Given the description of an element on the screen output the (x, y) to click on. 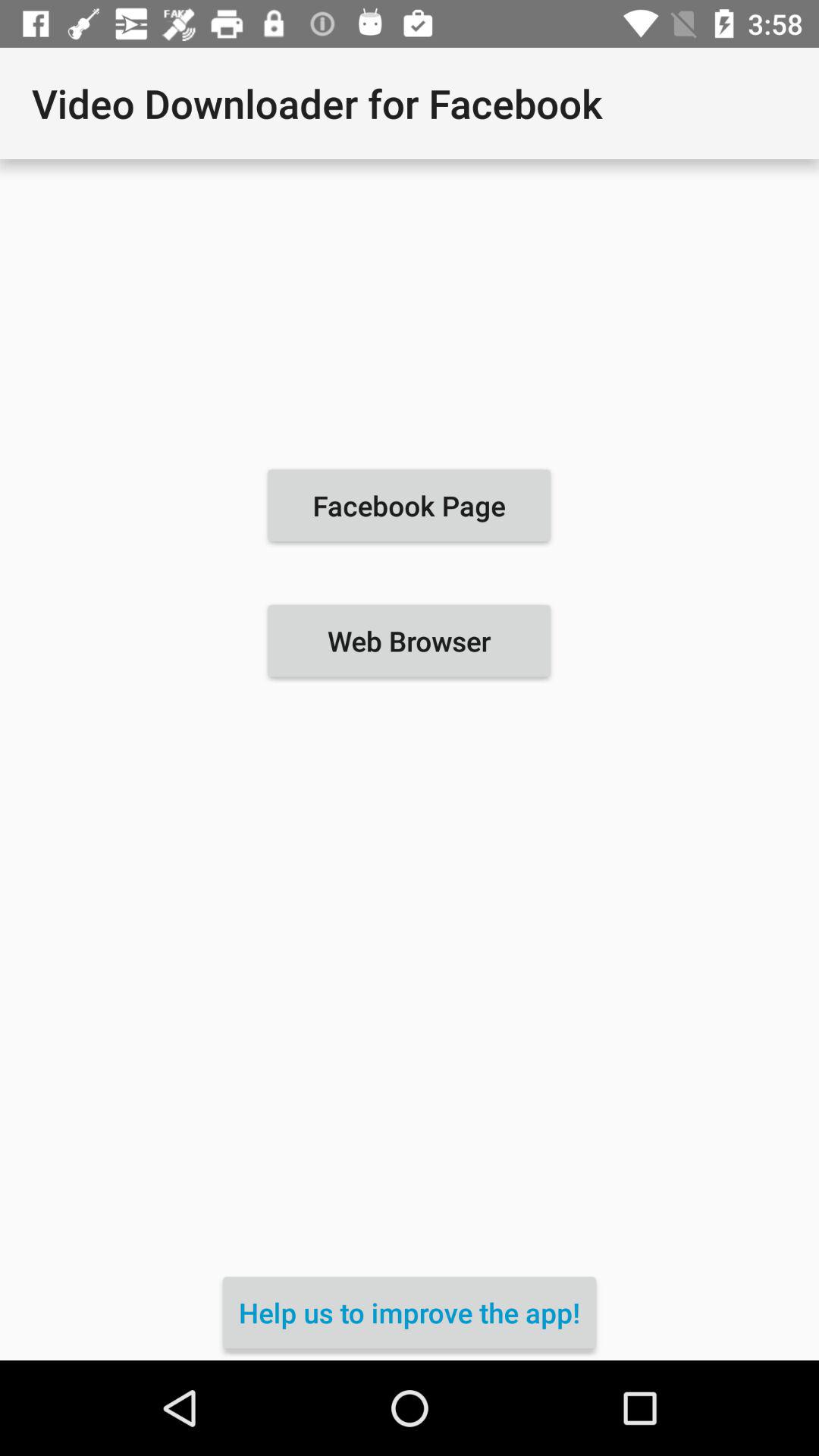
click icon below the video downloader for icon (408, 505)
